Given the description of an element on the screen output the (x, y) to click on. 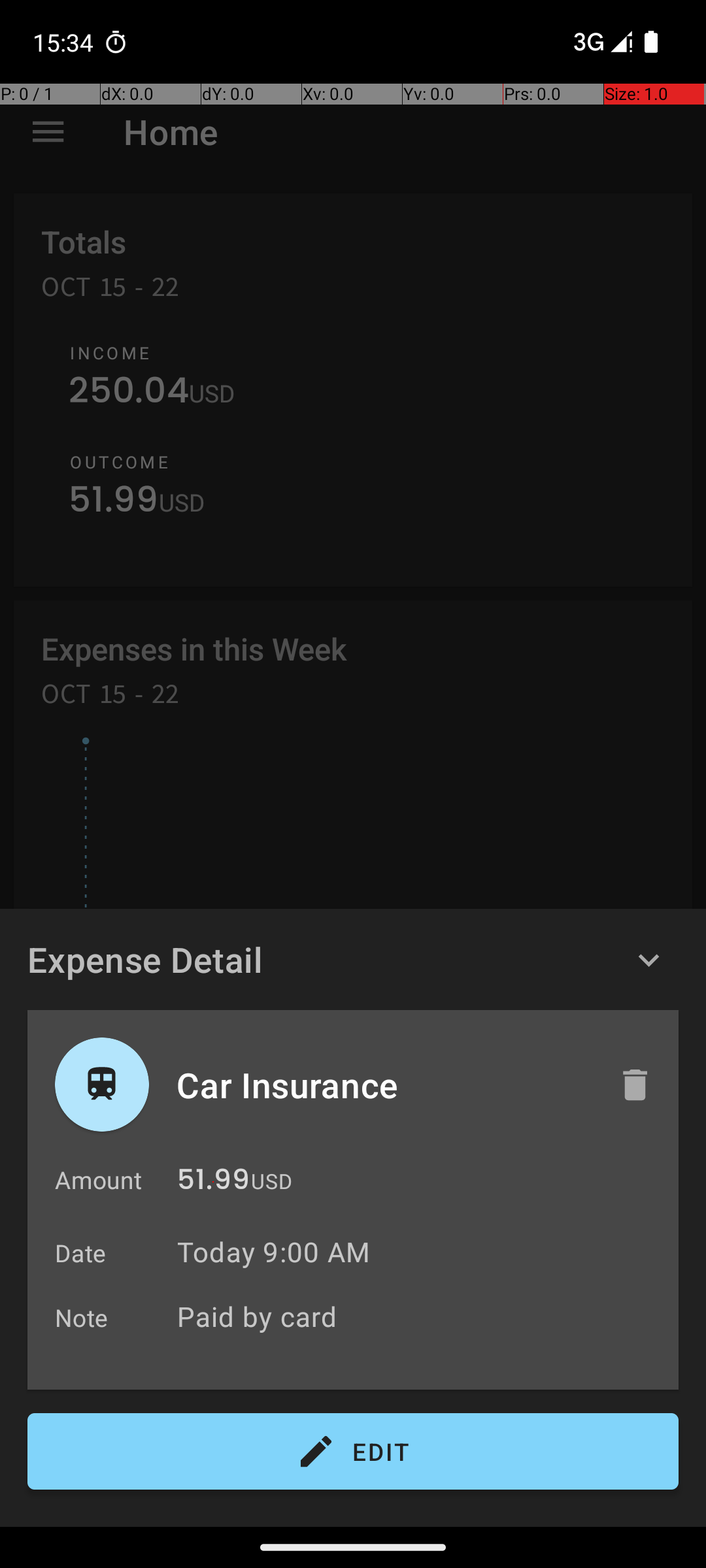
Car Insurance Element type: android.widget.TextView (383, 1084)
51.99 Element type: android.widget.TextView (213, 1182)
Today 9:00 AM Element type: android.widget.TextView (273, 1251)
